Given the description of an element on the screen output the (x, y) to click on. 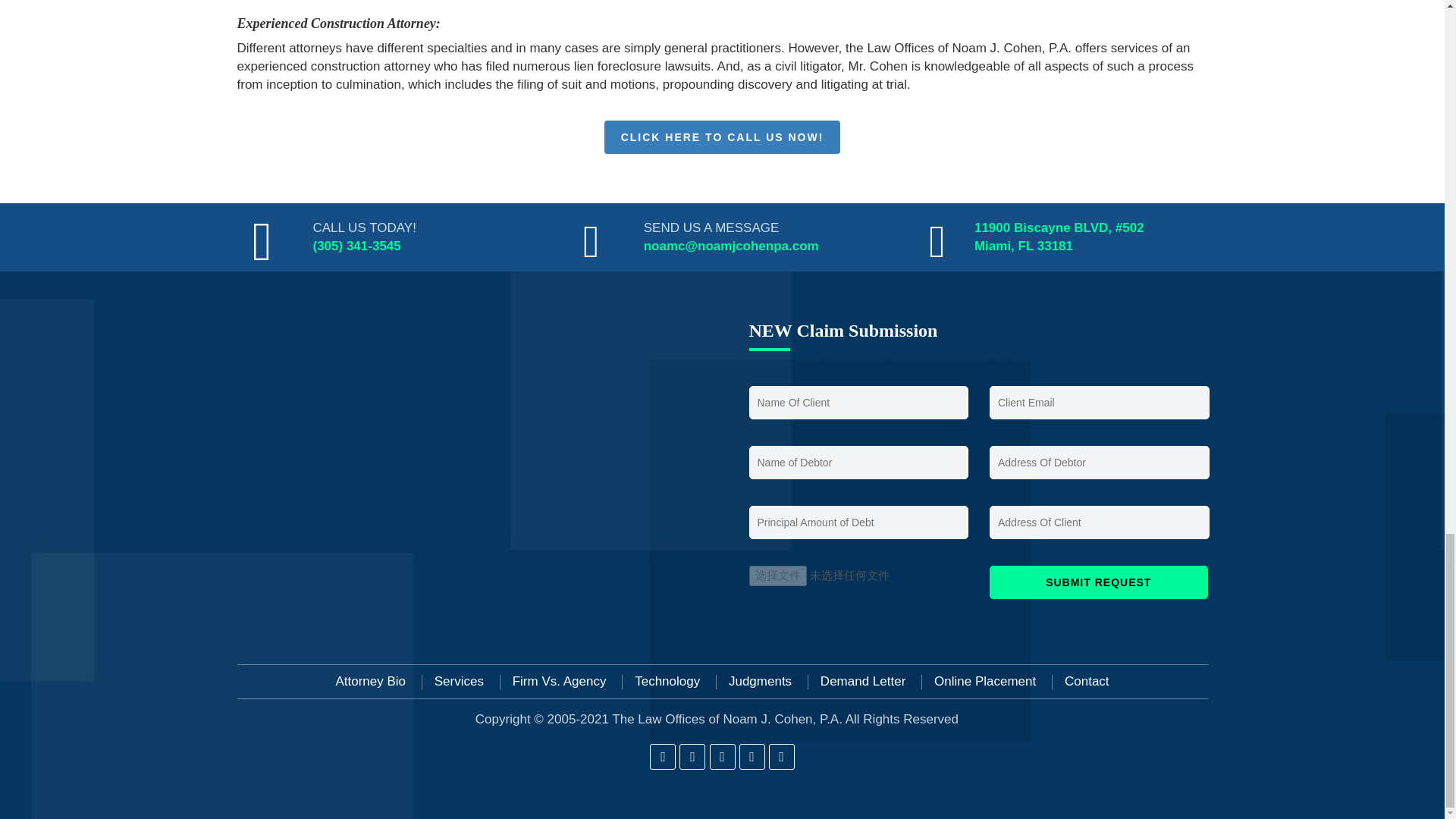
Attorney Bio (370, 681)
Submit Request (1099, 581)
CLICK HERE TO CALL US NOW! (722, 136)
Twitter (691, 756)
Linkedin (752, 756)
Instagram (722, 756)
Youtube (781, 756)
Submit Request (1099, 581)
Facebook (662, 756)
